Given the description of an element on the screen output the (x, y) to click on. 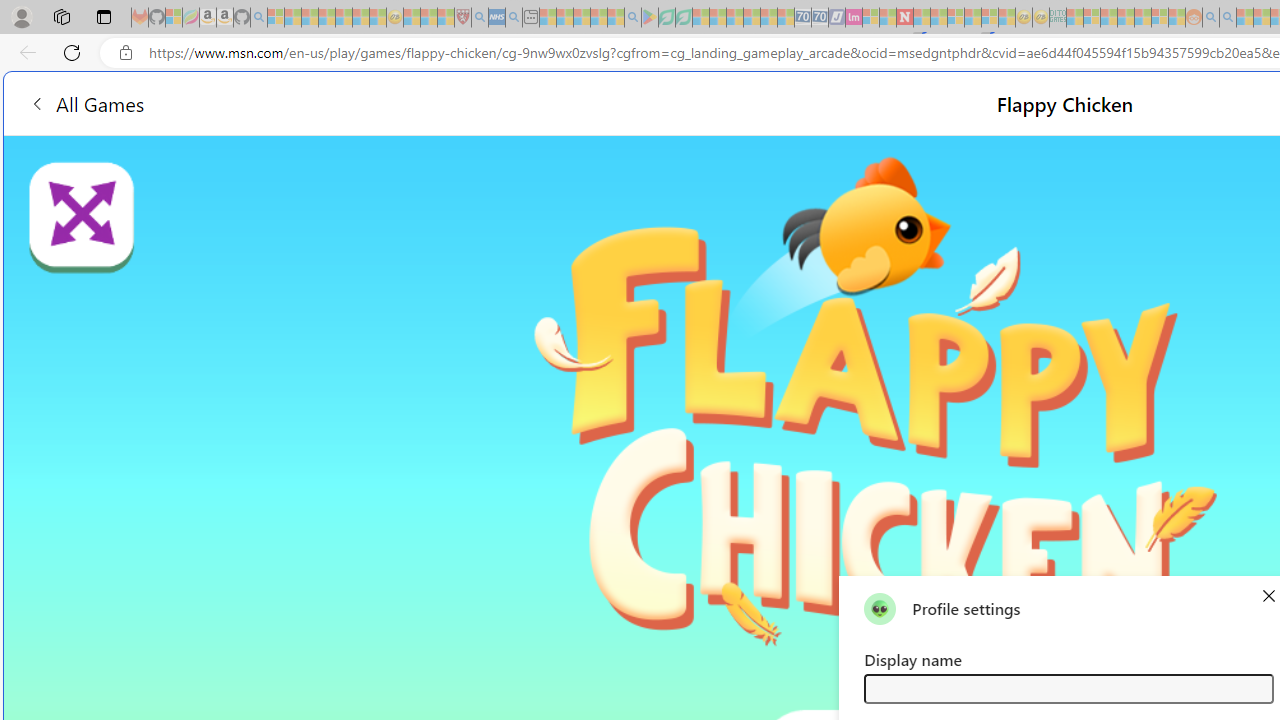
Jobs - lastminute.com Investor Portal - Sleeping (853, 17)
